Given the description of an element on the screen output the (x, y) to click on. 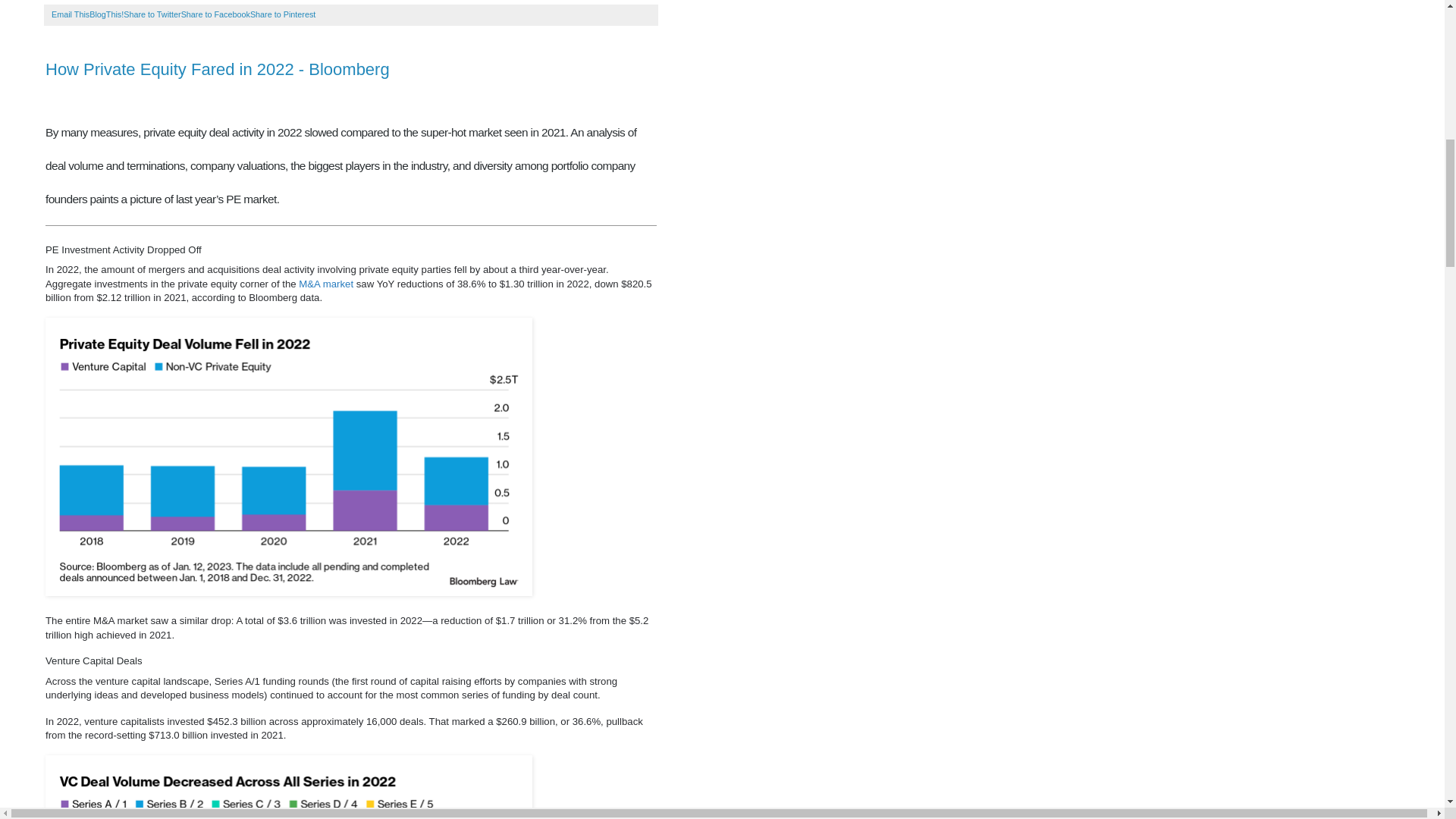
BlogThis! (105, 13)
BlogThis! (105, 13)
Email This (69, 13)
Share to Pinterest (282, 13)
Share to Pinterest (282, 13)
Share to Facebook (215, 13)
Share to Twitter (151, 13)
Share to Facebook (215, 13)
Email This (69, 13)
Share to Twitter (151, 13)
